Given the description of an element on the screen output the (x, y) to click on. 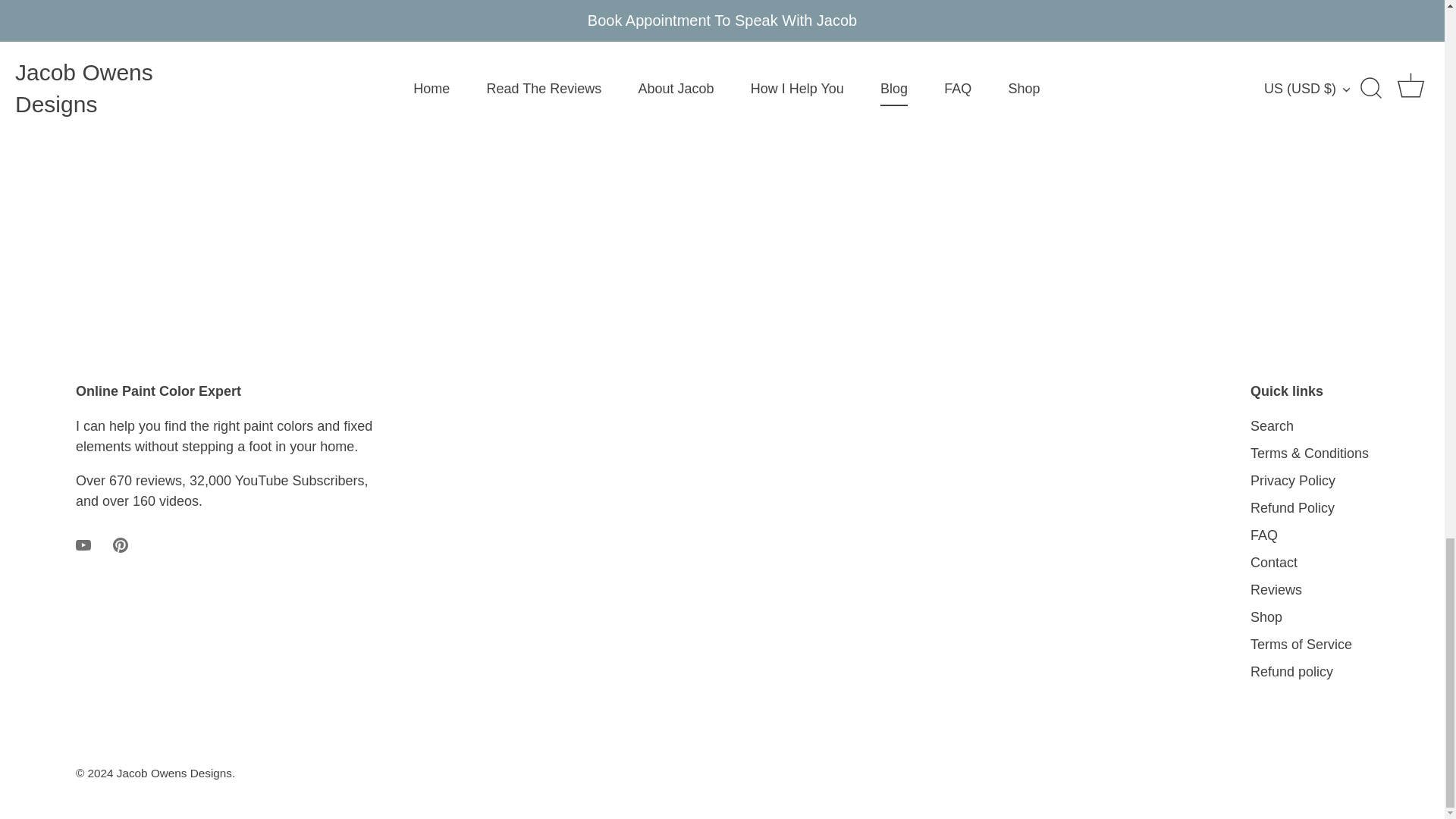
Privacy Policy (1292, 480)
Pinterest (120, 544)
Refund Policy (1292, 507)
Youtube (82, 544)
Pinterest (120, 544)
Search (1272, 426)
Youtube (82, 544)
